Given the description of an element on the screen output the (x, y) to click on. 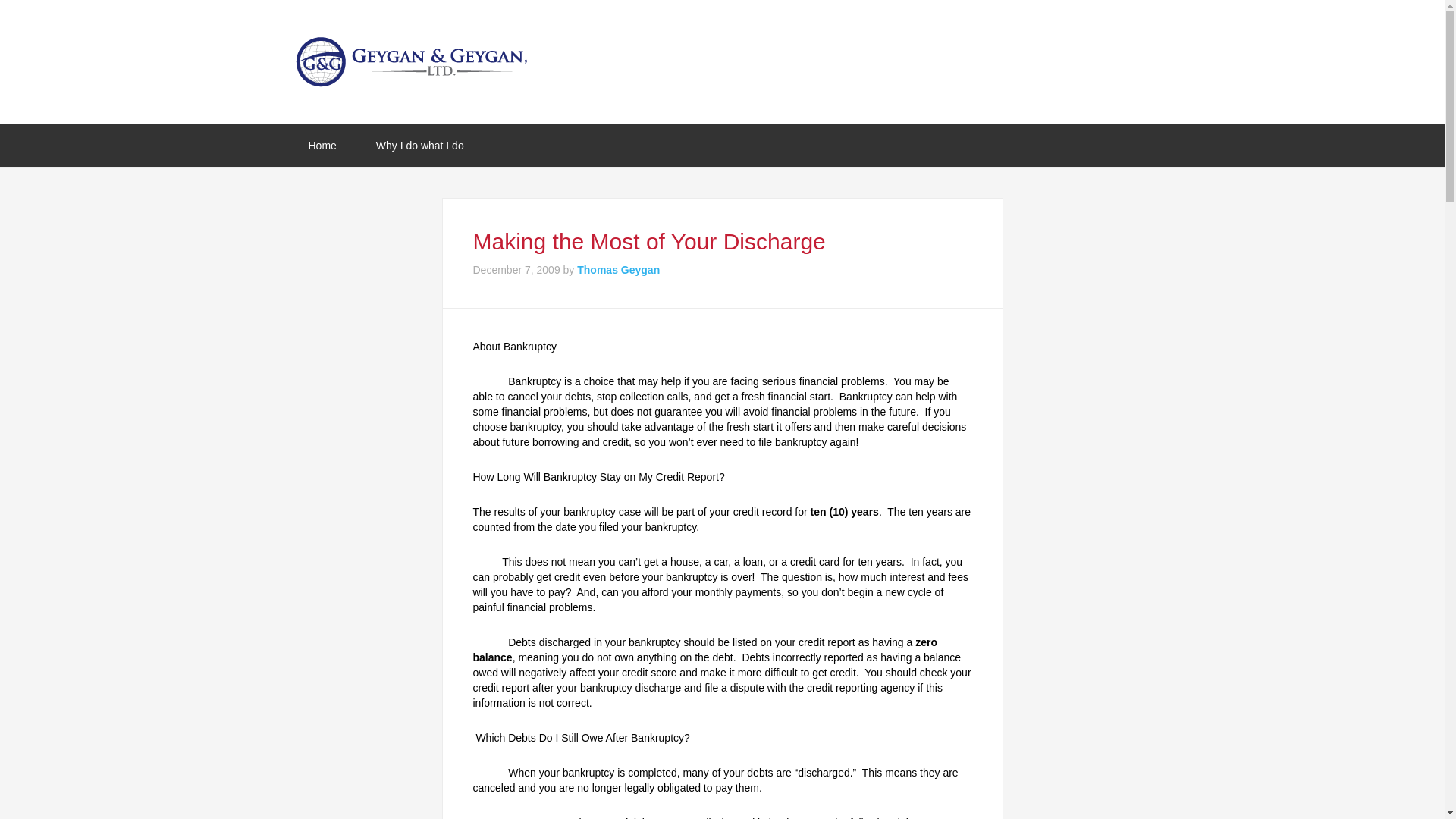
Thomas Geygan (617, 269)
Home (321, 145)
Why I do what I do (419, 145)
About Us (419, 145)
